Given the description of an element on the screen output the (x, y) to click on. 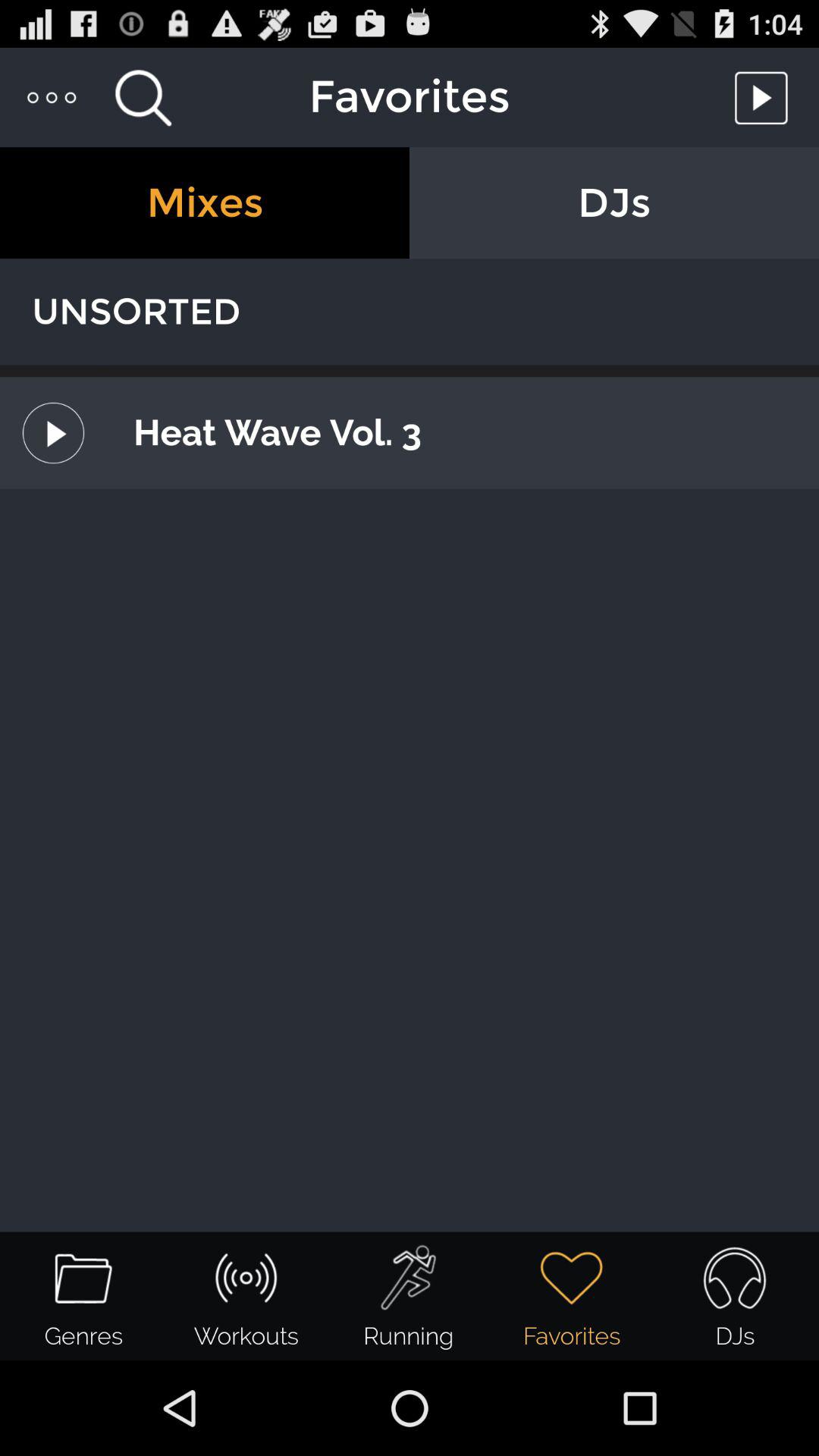
turn off icon to the left of the djs item (204, 202)
